Given the description of an element on the screen output the (x, y) to click on. 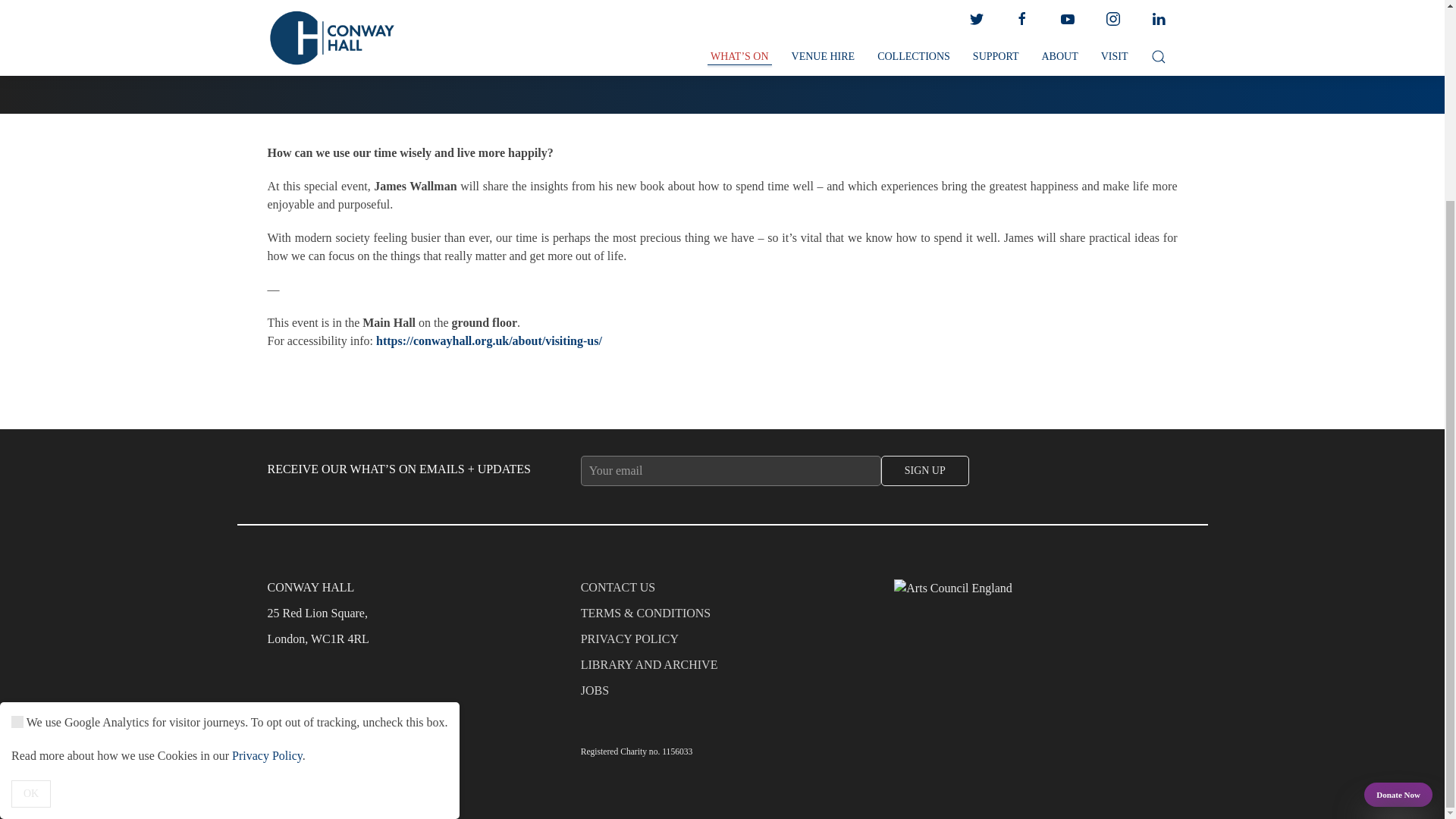
JOBS (722, 694)
LIBRARY AND ARCHIVE (722, 668)
Donate Now (1398, 538)
PRIVACY POLICY (722, 642)
CONTACT US (722, 591)
Sign Up (924, 470)
OK (30, 537)
Privacy Policy (266, 499)
Sign Up (924, 470)
on (17, 465)
